Given the description of an element on the screen output the (x, y) to click on. 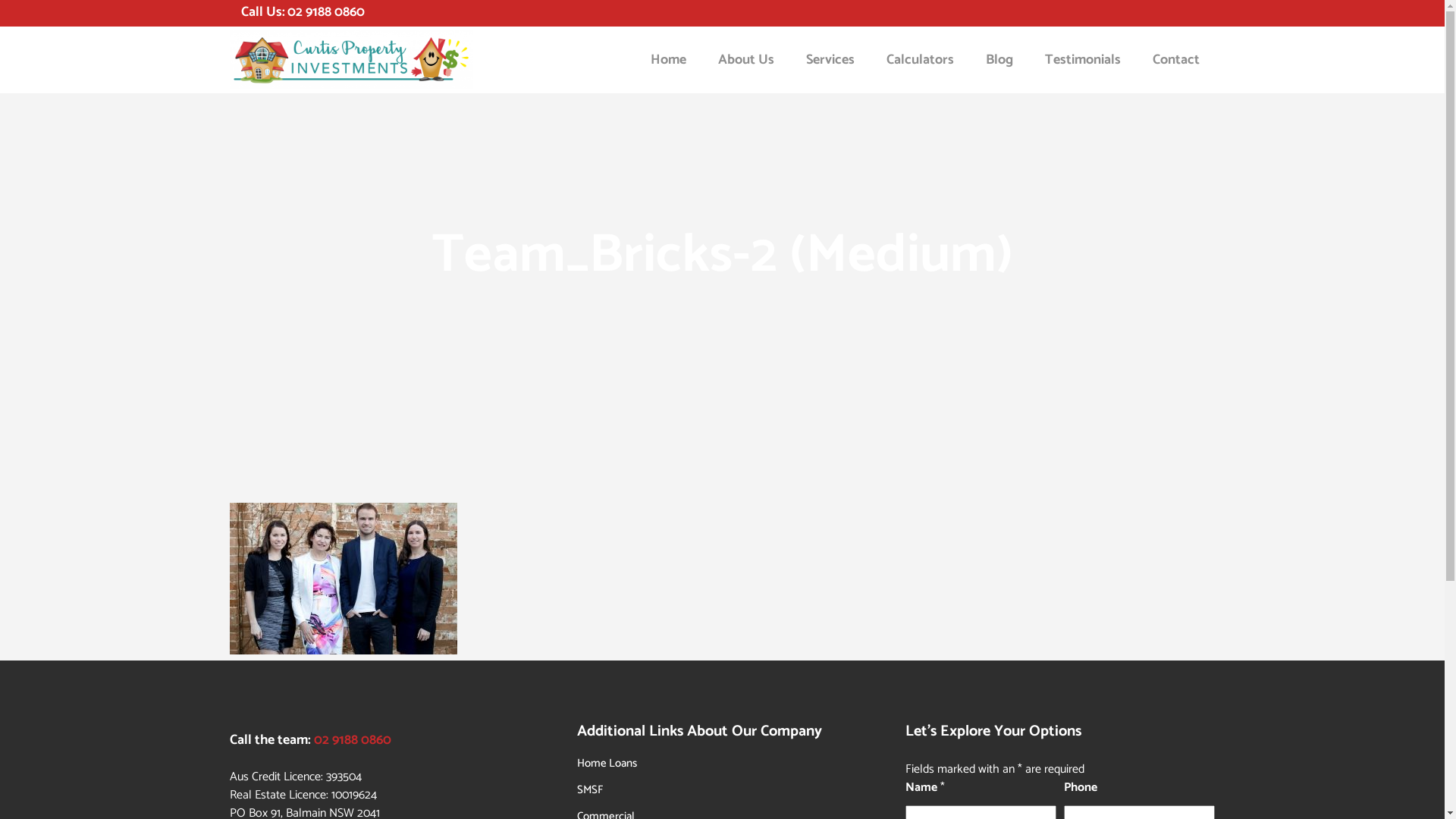
Home Element type: text (667, 59)
Home Loans Element type: text (729, 762)
Testimonials Element type: text (1081, 59)
Services Element type: text (830, 59)
Contact Element type: text (1174, 59)
SMSF Element type: text (729, 789)
About Us Element type: text (746, 59)
Blog Element type: text (998, 59)
Calculators Element type: text (919, 59)
